Given the description of an element on the screen output the (x, y) to click on. 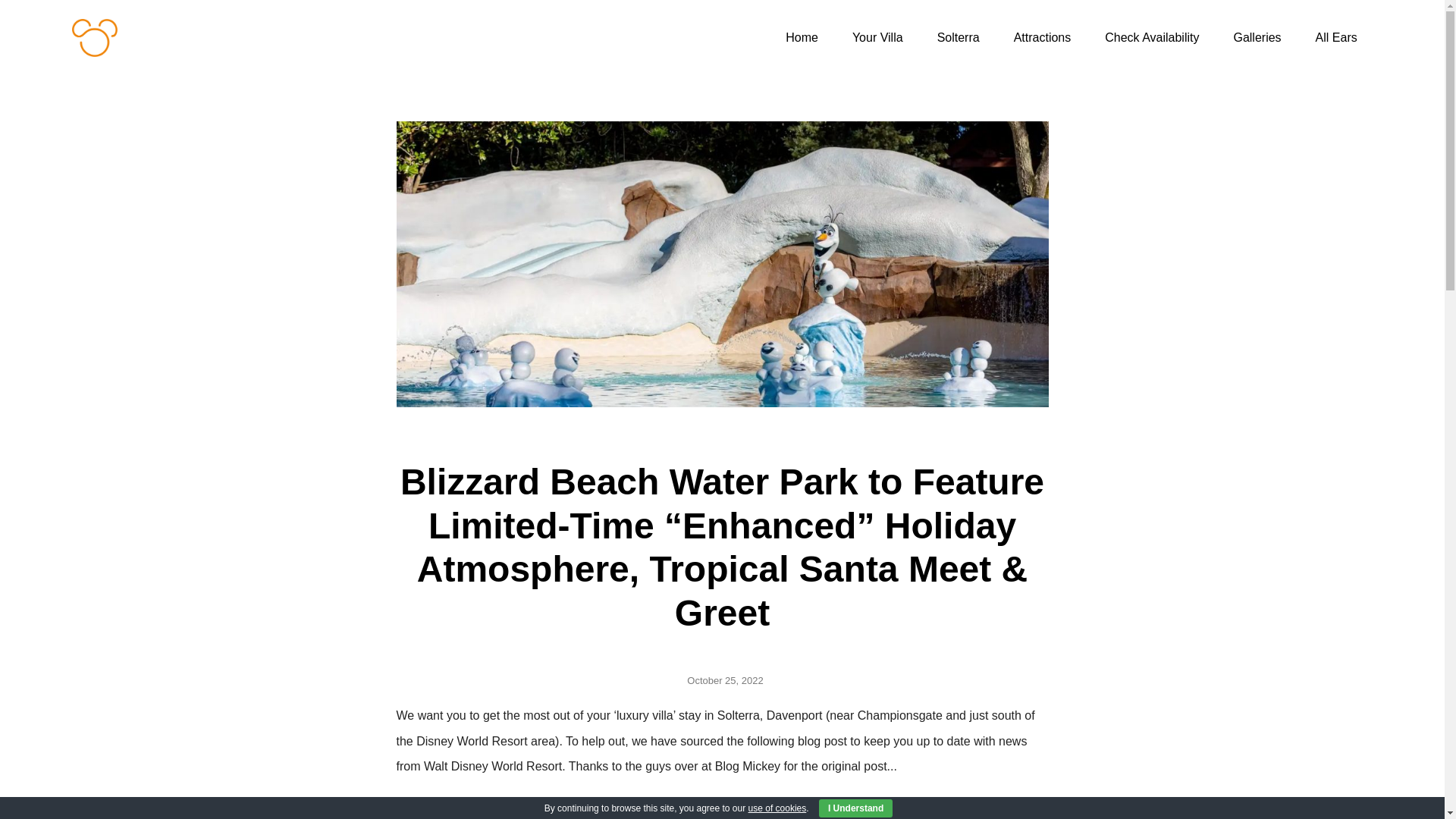
Home (801, 37)
Attractions (1042, 37)
Galleries (1256, 37)
Your Villa (877, 37)
October 25, 2022 (721, 680)
Check Availability (1151, 37)
Solterra (957, 37)
All Ears (1336, 37)
